Given the description of an element on the screen output the (x, y) to click on. 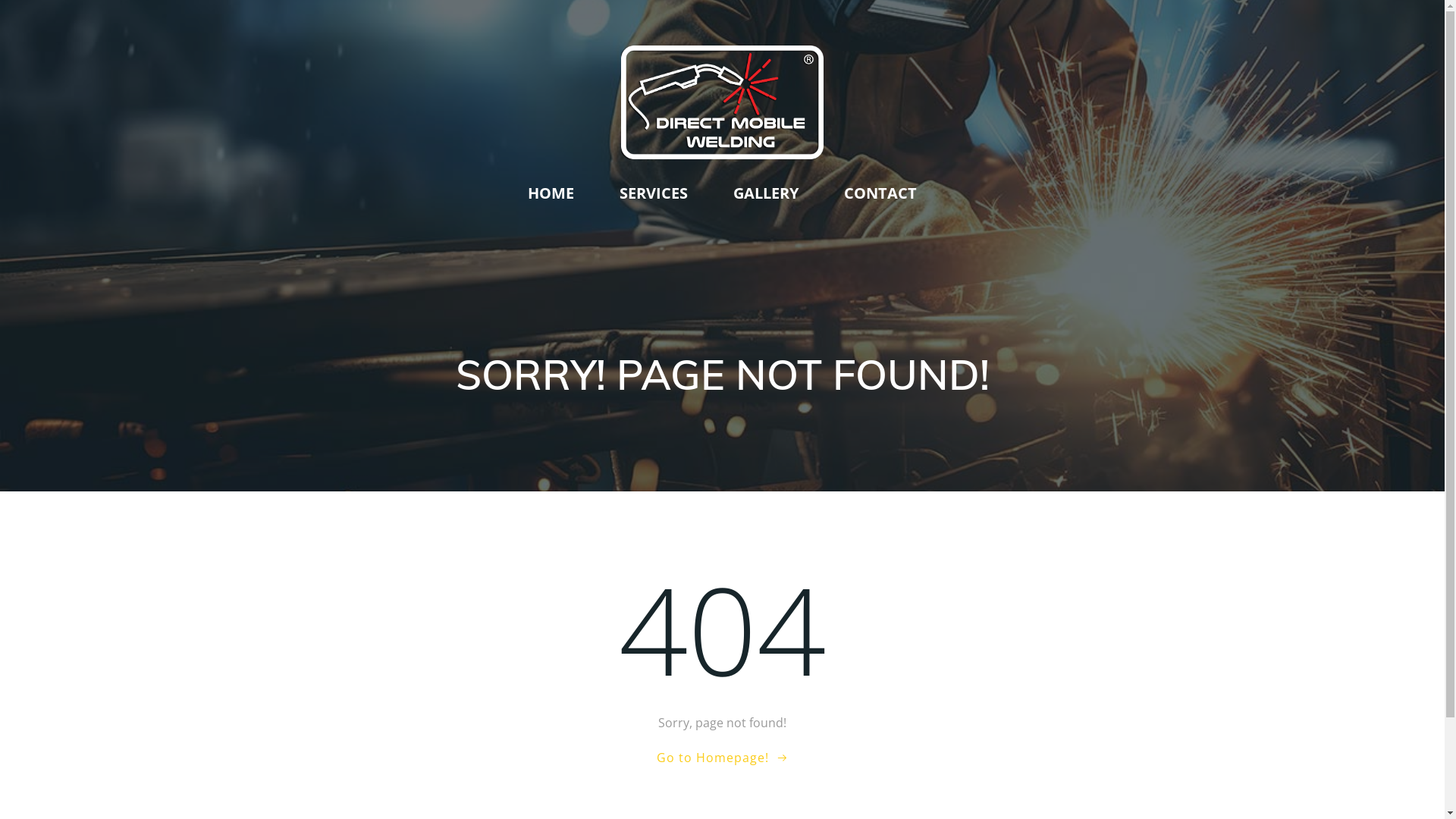
CONTACT Element type: text (880, 193)
Go to Homepage! Element type: text (722, 756)
HOME Element type: text (550, 193)
GALLERY Element type: text (765, 193)
SERVICES Element type: text (653, 193)
